Given the description of an element on the screen output the (x, y) to click on. 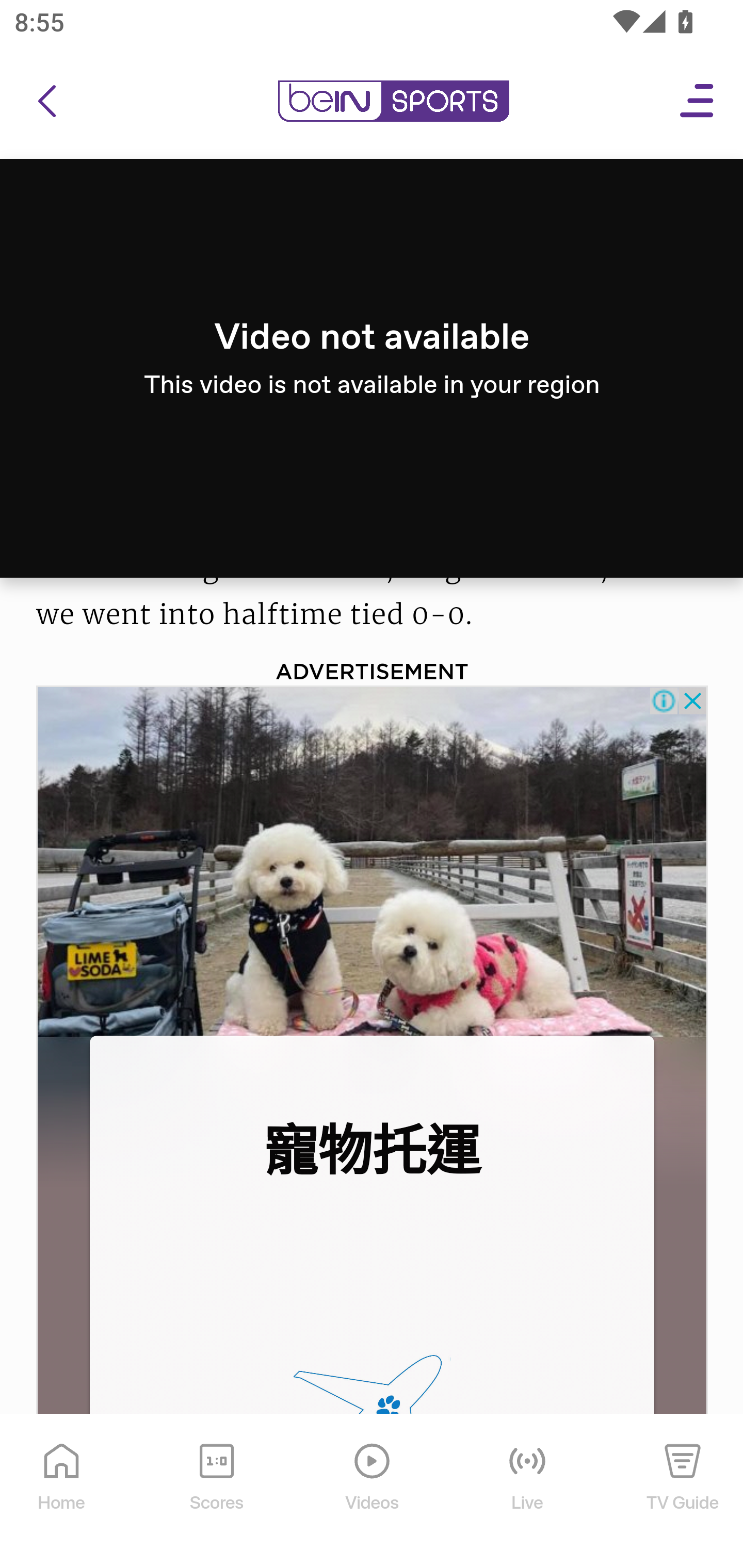
en-us?platform=mobile_android bein logo (392, 101)
icon back (46, 101)
Open Menu Icon (697, 101)
寵物托運 (370, 1151)
Home Home Icon Home (61, 1491)
Scores Scores Icon Scores (216, 1491)
Videos Videos Icon Videos (372, 1491)
TV Guide TV Guide Icon TV Guide (682, 1491)
